Given the description of an element on the screen output the (x, y) to click on. 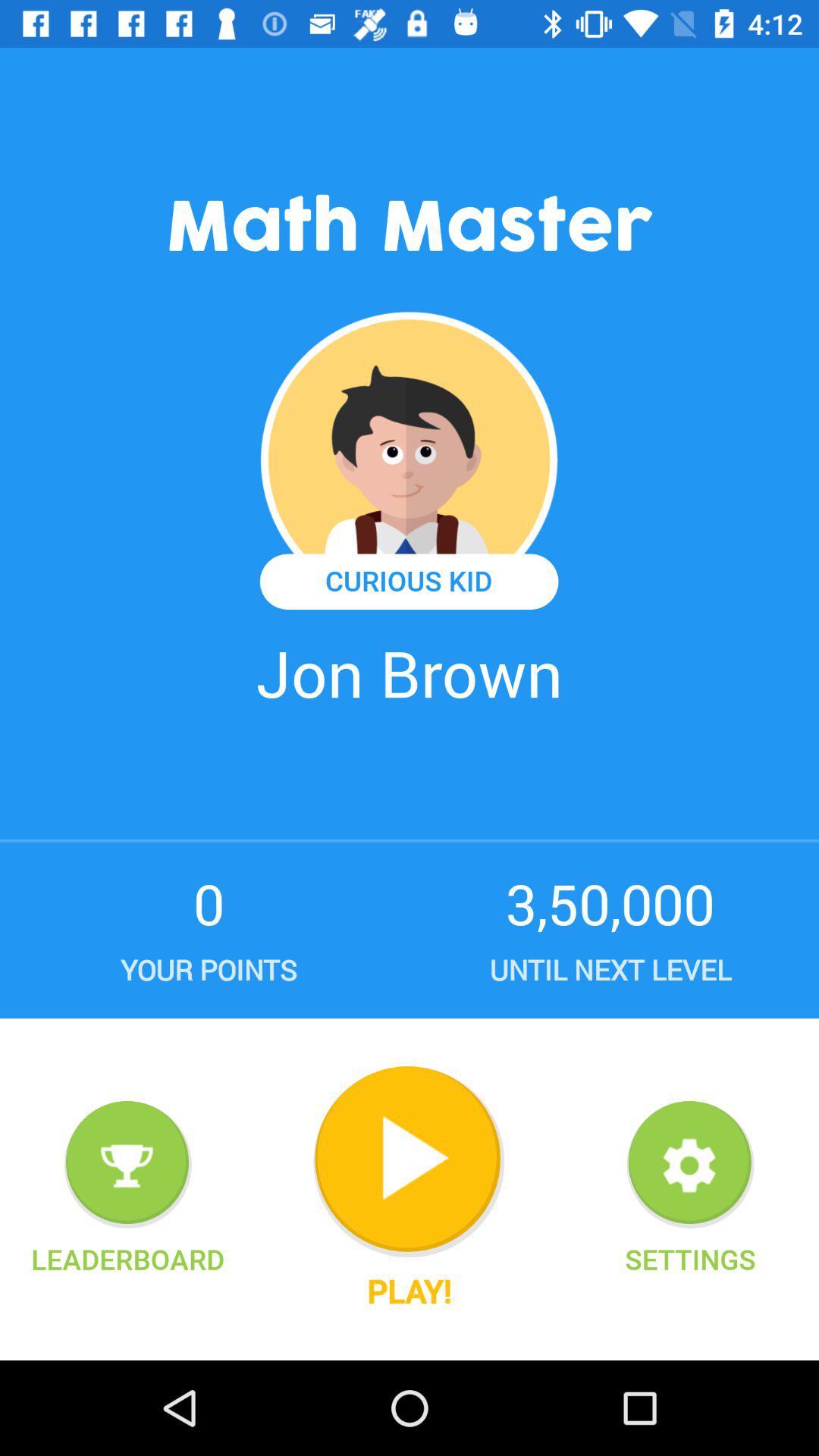
go to settings (690, 1164)
